Given the description of an element on the screen output the (x, y) to click on. 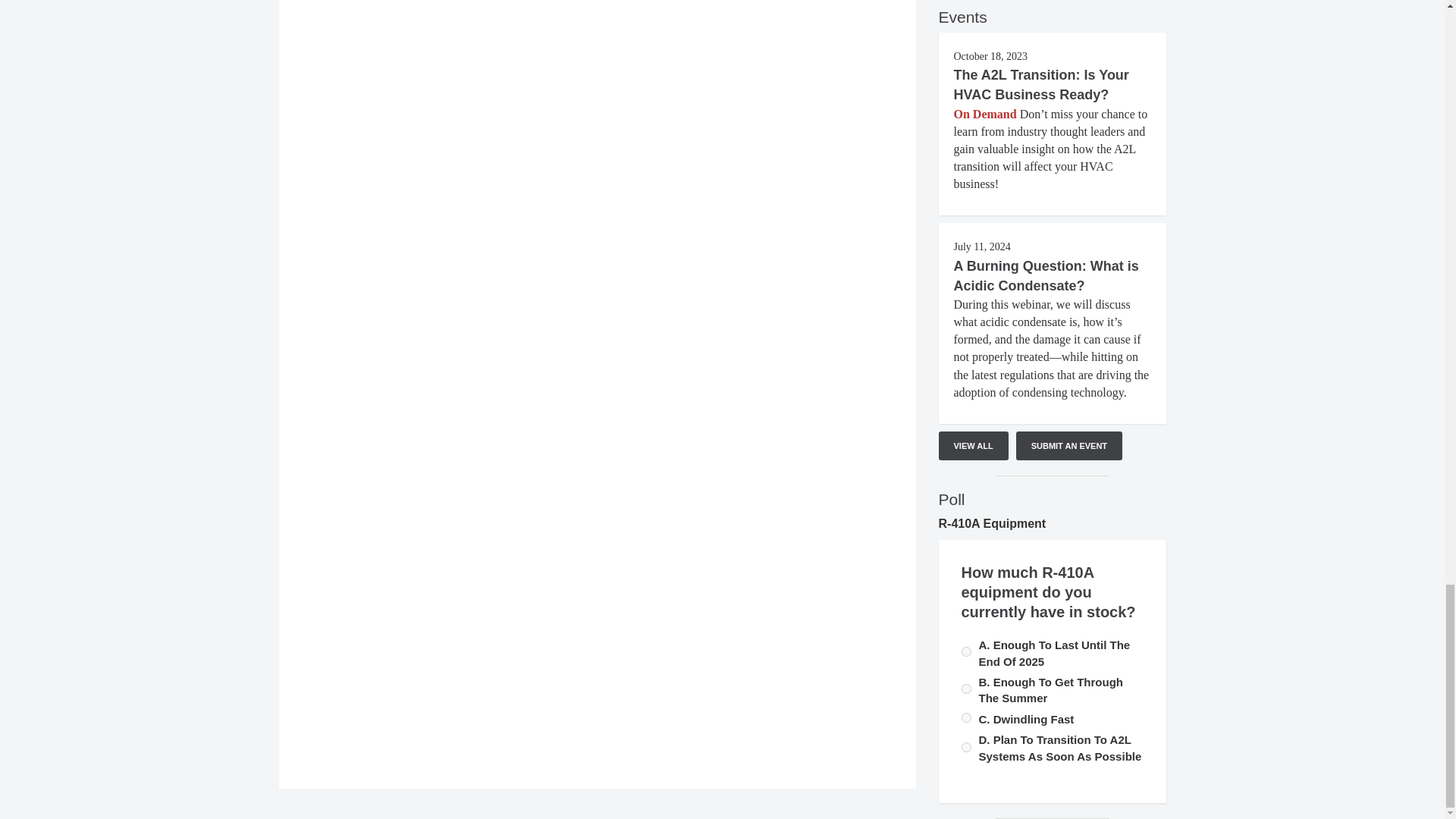
596 (965, 688)
A Burning Question: What is Acidic Condensate? (1045, 275)
The A2L Transition: Is Your HVAC Business Ready? (1041, 84)
598 (965, 717)
599 (965, 746)
597 (965, 651)
